Given the description of an element on the screen output the (x, y) to click on. 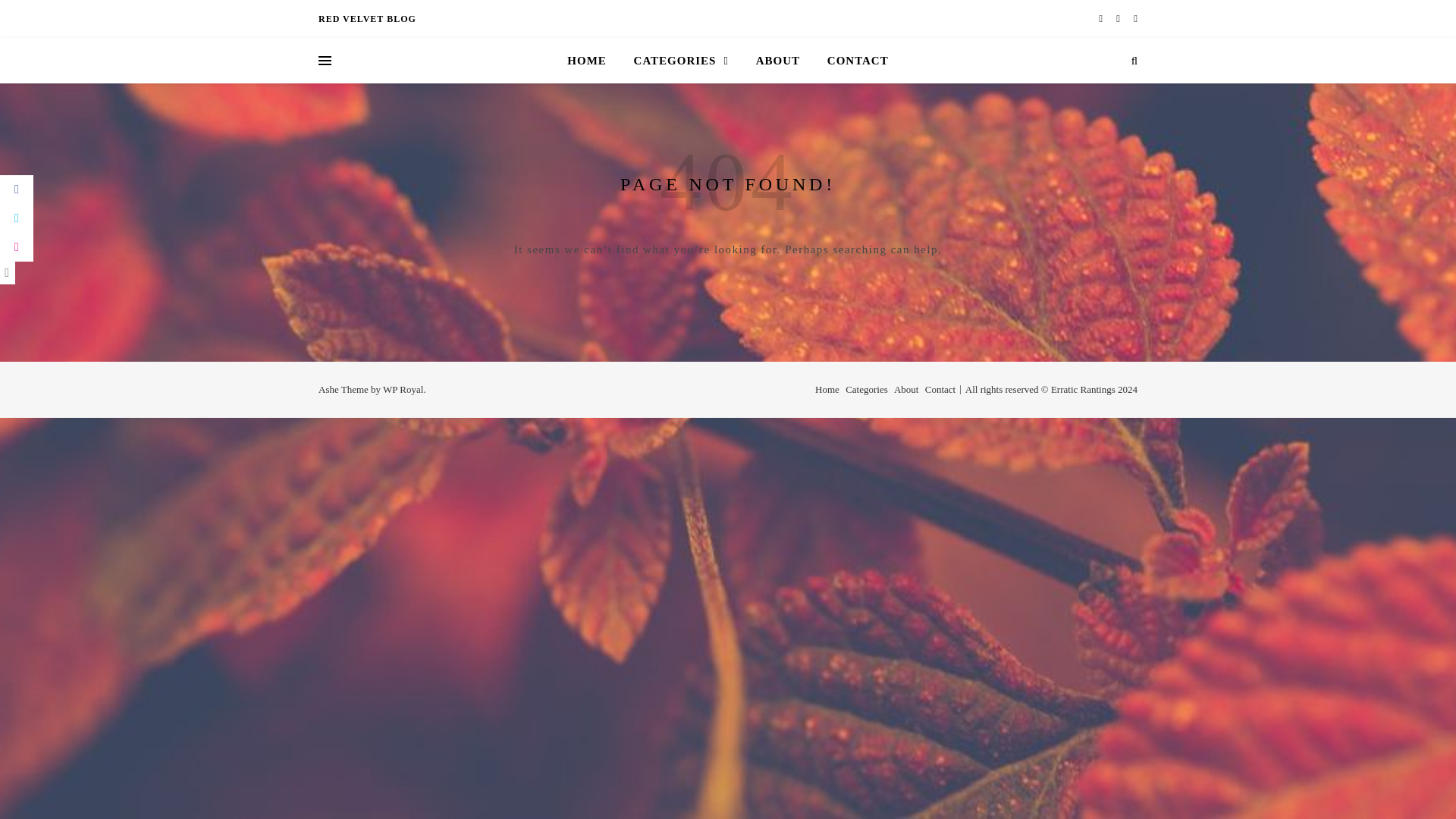
Share  on Facebook (16, 189)
CONTACT (851, 60)
CATEGORIES (681, 60)
Share  on Twitter (16, 217)
Categories (866, 389)
WP Royal (402, 389)
Share  on Email (16, 246)
Home (827, 389)
Contact (939, 389)
About (905, 389)
HOME (592, 60)
ABOUT (778, 60)
RED VELVET BLOG (367, 18)
